Given the description of an element on the screen output the (x, y) to click on. 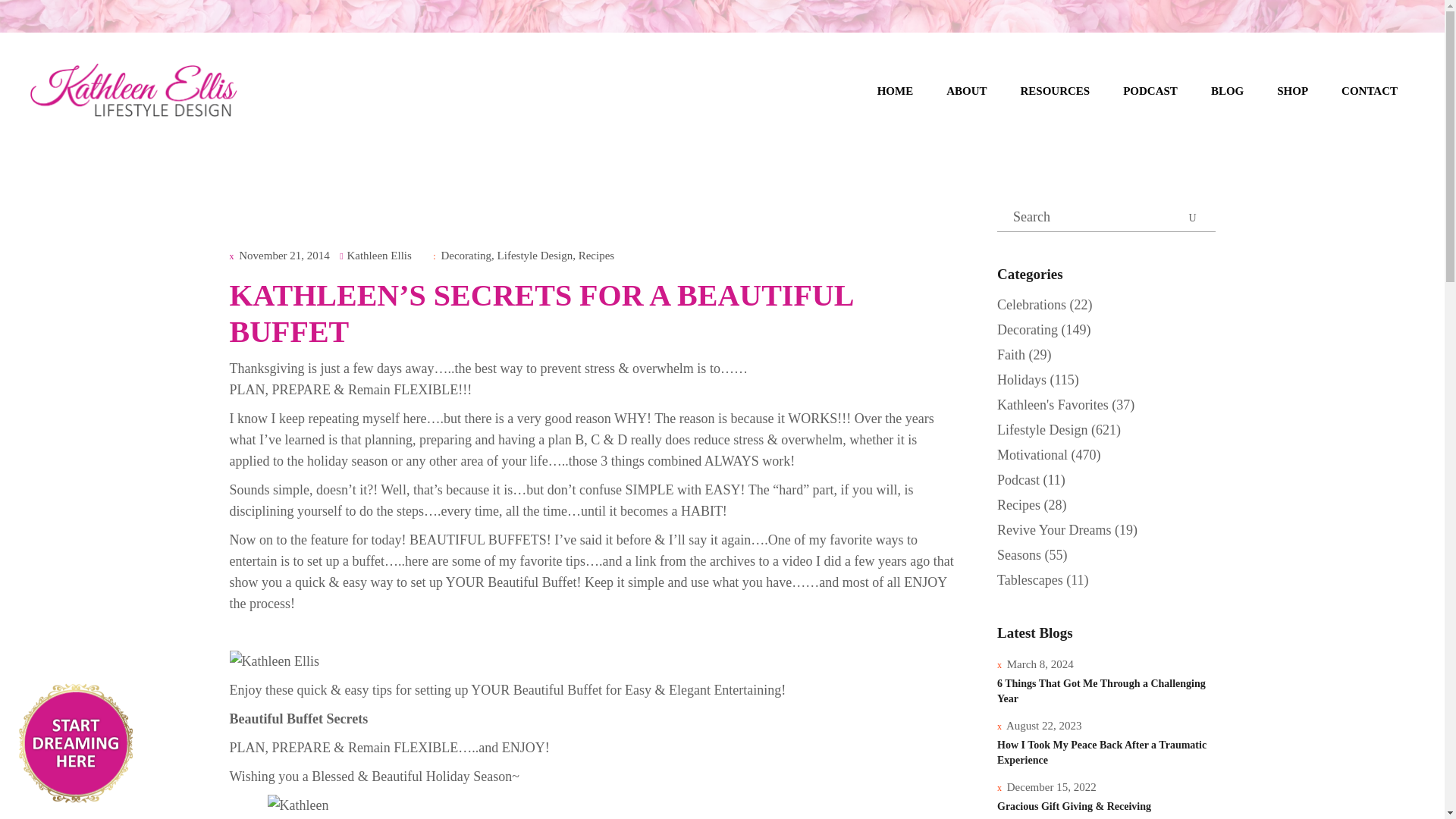
PODCAST (1149, 90)
Kathleen Ellis (378, 255)
Decorating (466, 255)
Lifestyle Design (535, 255)
Recipes (596, 255)
RESOURCES (1055, 90)
Beautiful Buffet Secrets (298, 718)
CONTACT (1368, 90)
BLOG (1226, 90)
HOME (895, 90)
SHOP (1292, 90)
ABOUT (966, 90)
How I Took My Peace Back After a Traumatic Experience (1102, 752)
6 Things That Got Me Through a Challenging Year (1101, 691)
Search for: (1106, 217)
